Given the description of an element on the screen output the (x, y) to click on. 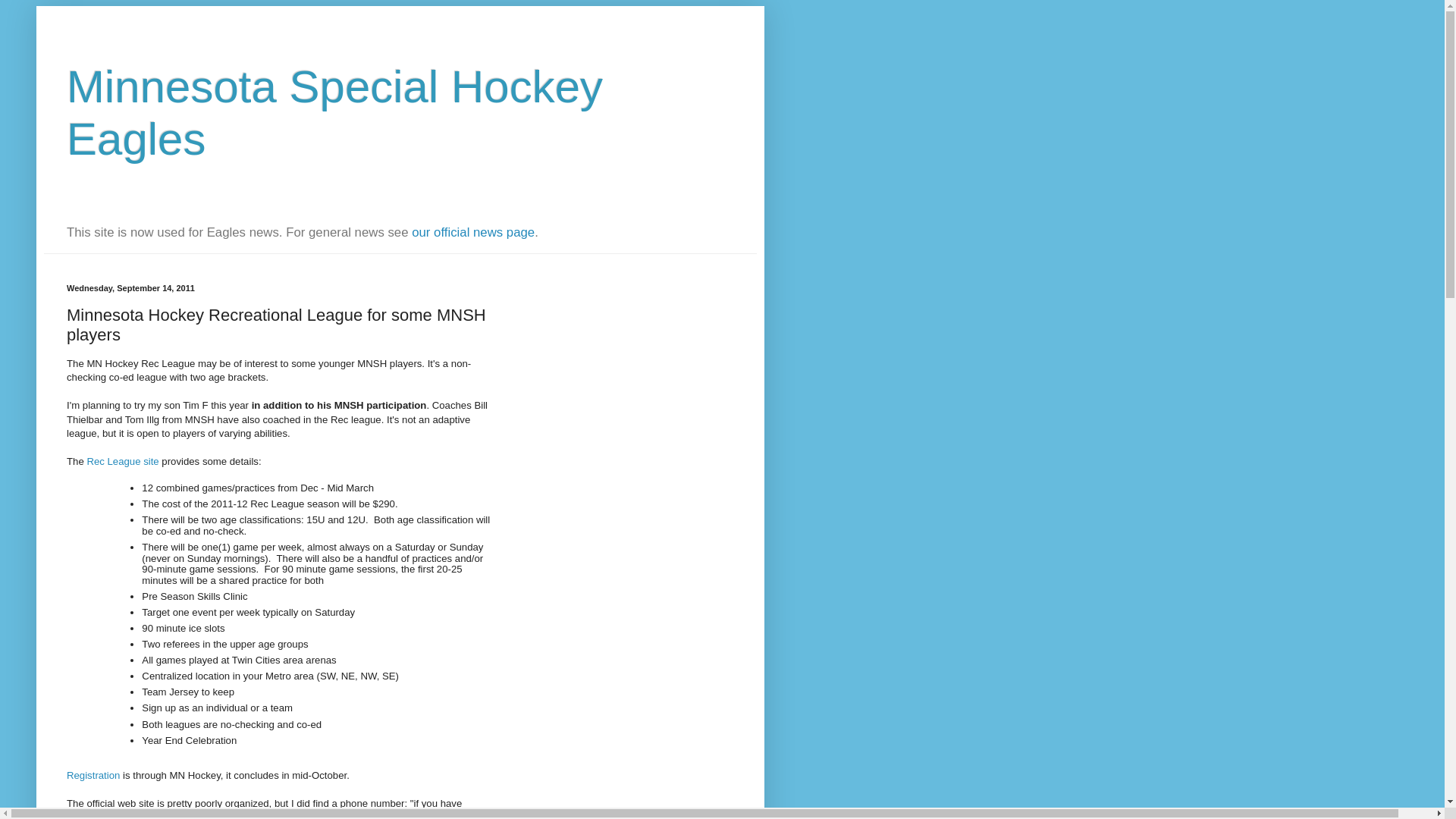
Rec League site (121, 460)
our official news page (473, 232)
Registration (92, 775)
Minnesota Special Hockey Eagles (334, 112)
